Given the description of an element on the screen output the (x, y) to click on. 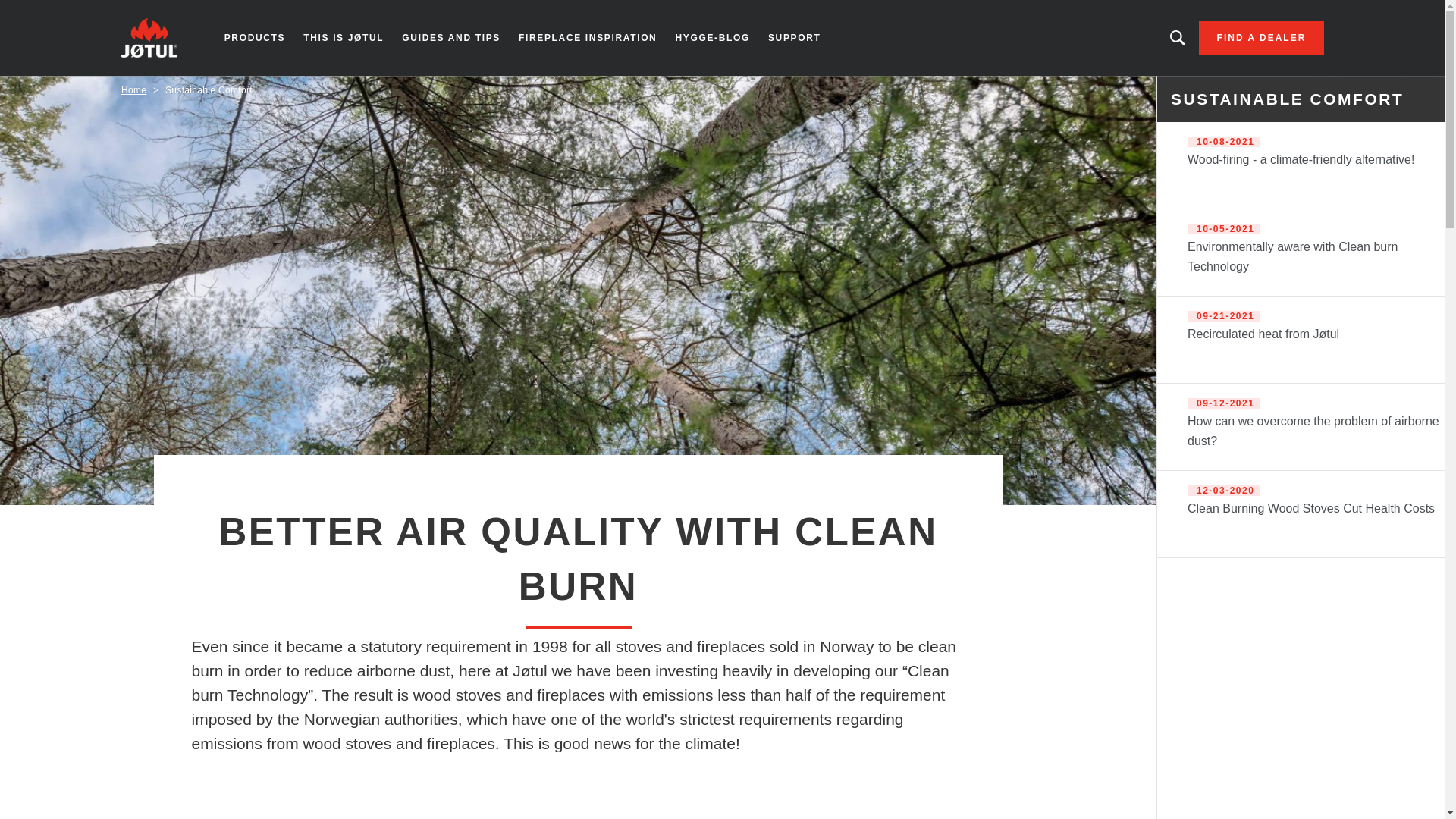
HYGGE-BLOG (711, 38)
Sustainable Comfort (208, 90)
FIND A DEALER (1261, 38)
Home (133, 90)
SUPPORT (793, 38)
PRODUCTS (255, 38)
GUIDES AND TIPS (451, 38)
FIREPLACE INSPIRATION (587, 38)
